Given the description of an element on the screen output the (x, y) to click on. 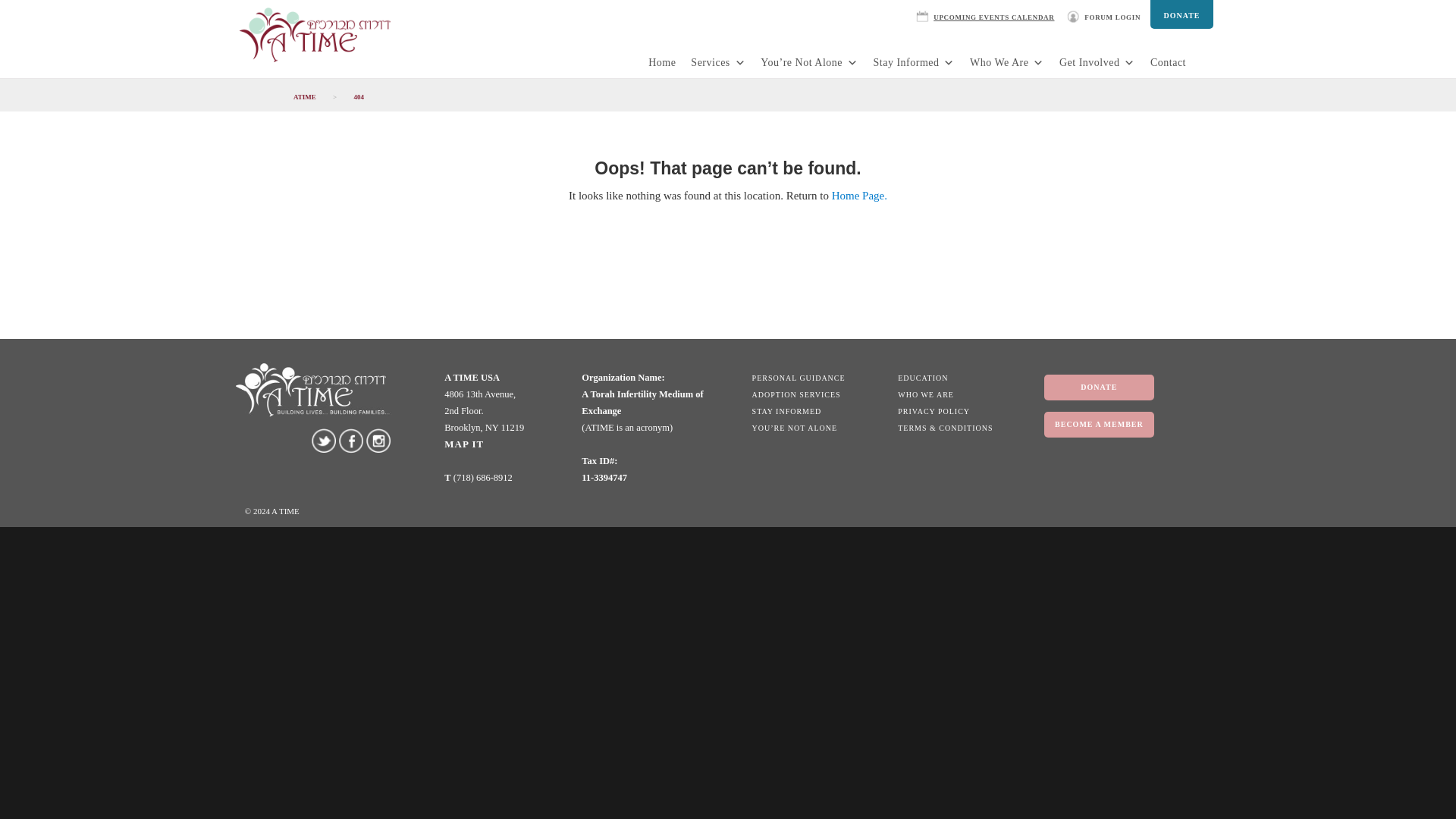
Instagram (378, 439)
Instagram (378, 440)
Go to ATime. (304, 96)
Services (717, 62)
DONATE (1181, 14)
FORUM LOGIN (1107, 14)
Twitter (323, 439)
Facebook (351, 439)
UPCOMING EVENTS CALENDAR (988, 14)
Facebook (350, 440)
Twitter (323, 440)
Go to 404. (358, 96)
Home (661, 62)
